Given the description of an element on the screen output the (x, y) to click on. 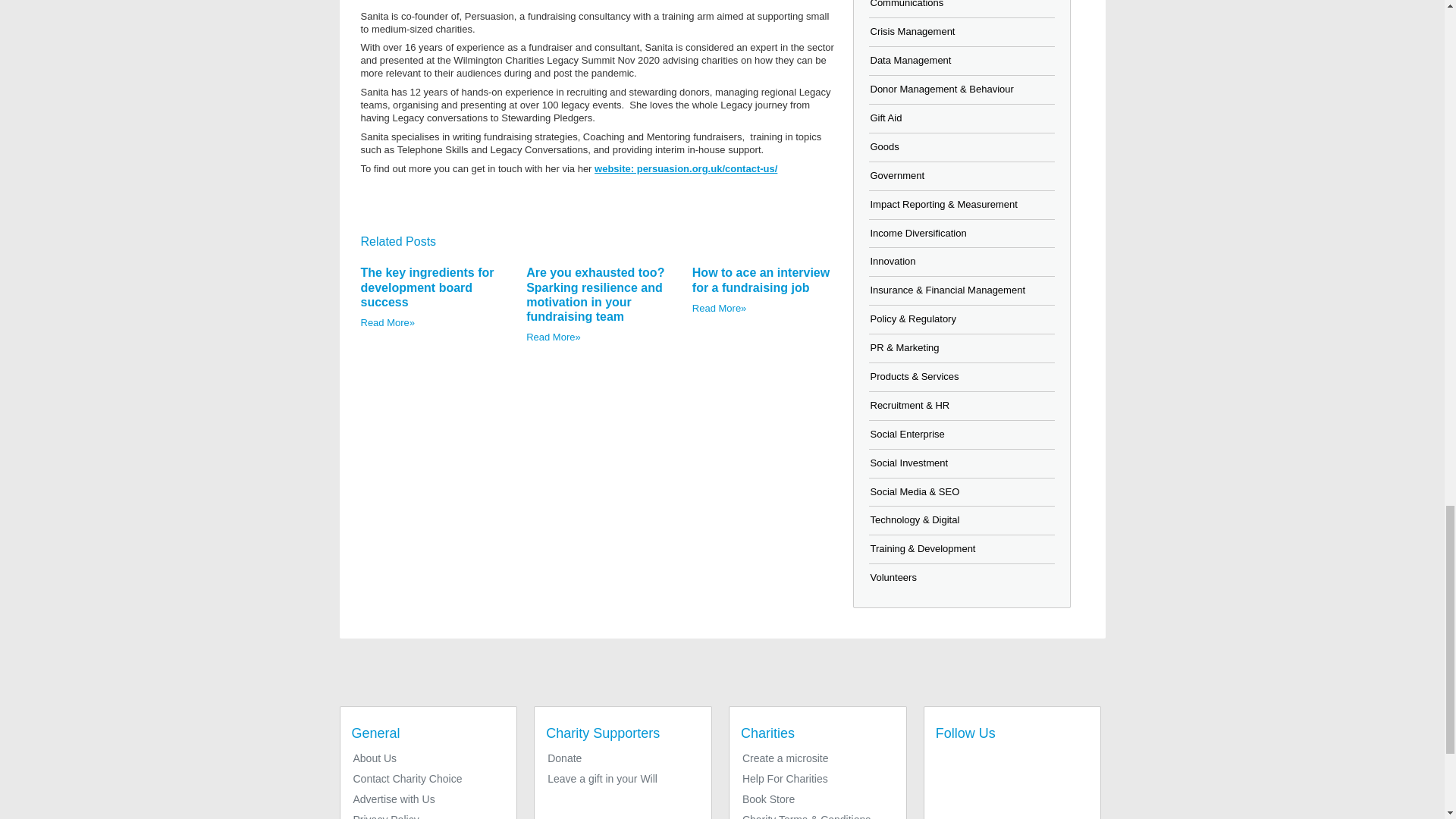
How to ace an interview for a fundraising job (761, 279)
Sanita profile pic - TF.jpg (598, 5)
Read More (387, 322)
Read More (552, 337)
The key ingredients for development board success (428, 286)
The key ingredients for development board success (428, 286)
How to ace an interview for a fundraising job (761, 279)
Read More (719, 307)
